Given the description of an element on the screen output the (x, y) to click on. 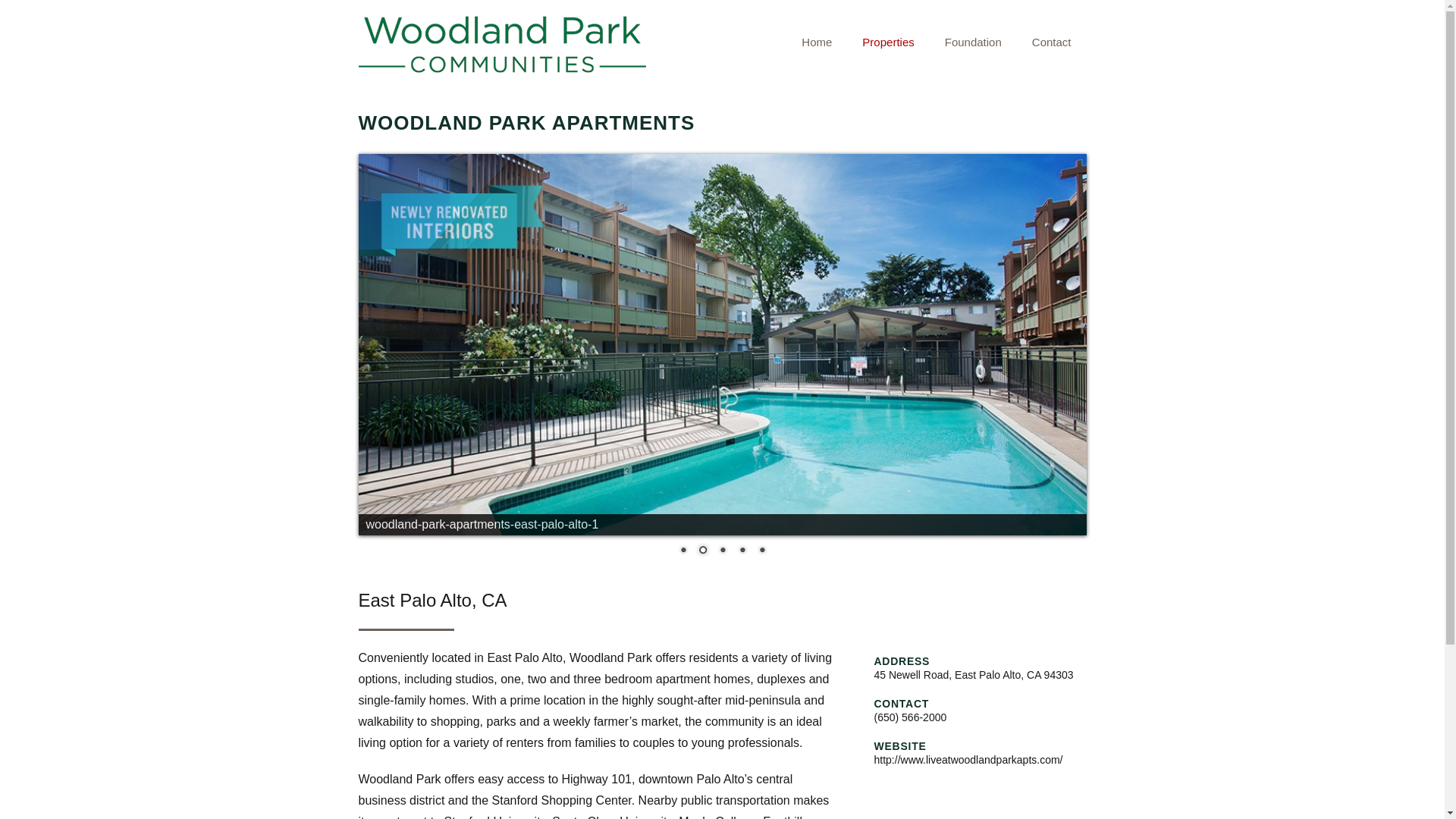
2 (702, 550)
Contact (936, 42)
1 (1051, 42)
Foundation (683, 550)
3 (973, 42)
4 (722, 550)
Home (742, 550)
5 (816, 42)
Properties (762, 550)
